Given the description of an element on the screen output the (x, y) to click on. 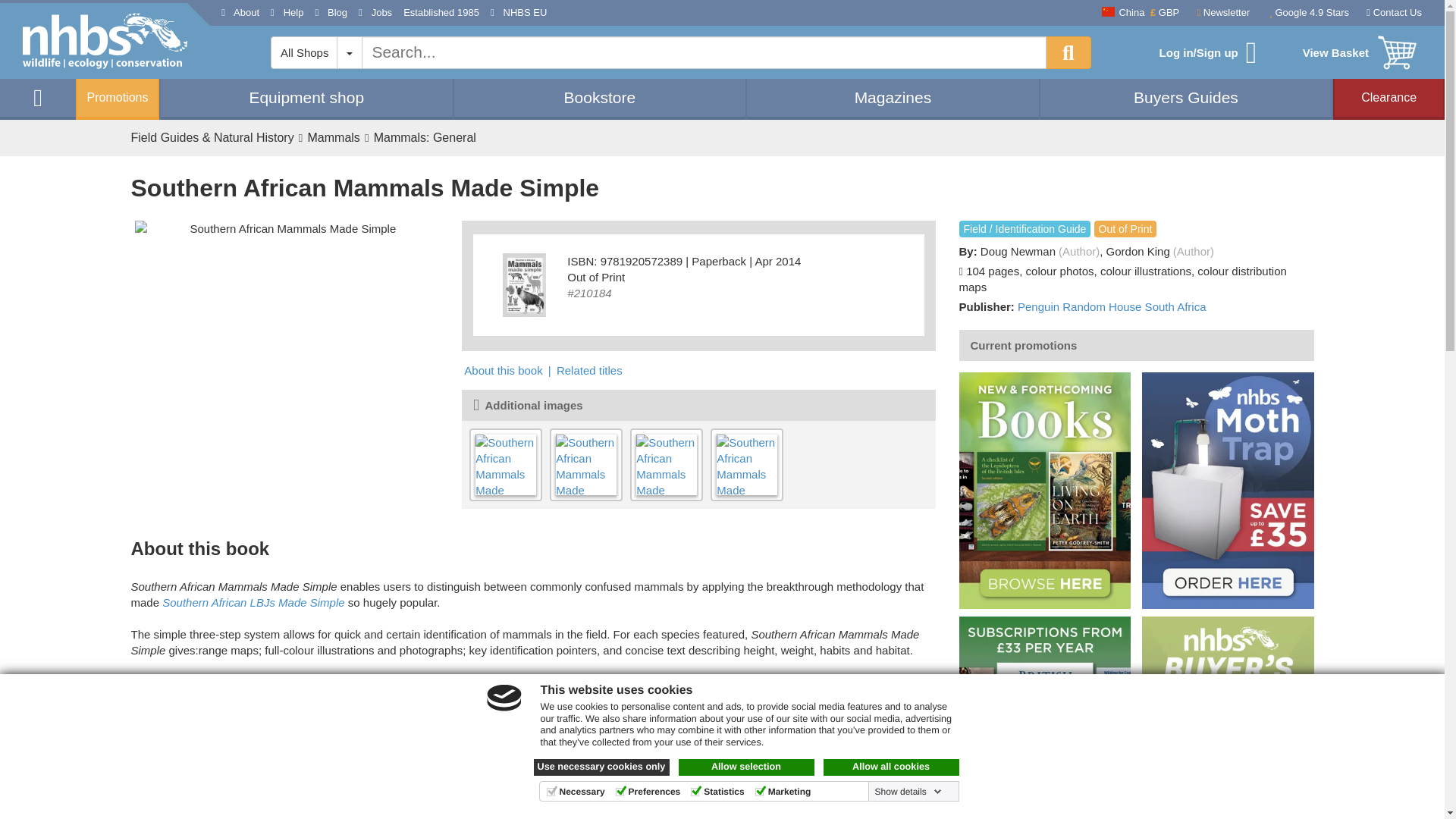
Allow all cookies (891, 767)
Use necessary cookies only (601, 767)
Allow selection (745, 767)
Show details (908, 791)
